Given the description of an element on the screen output the (x, y) to click on. 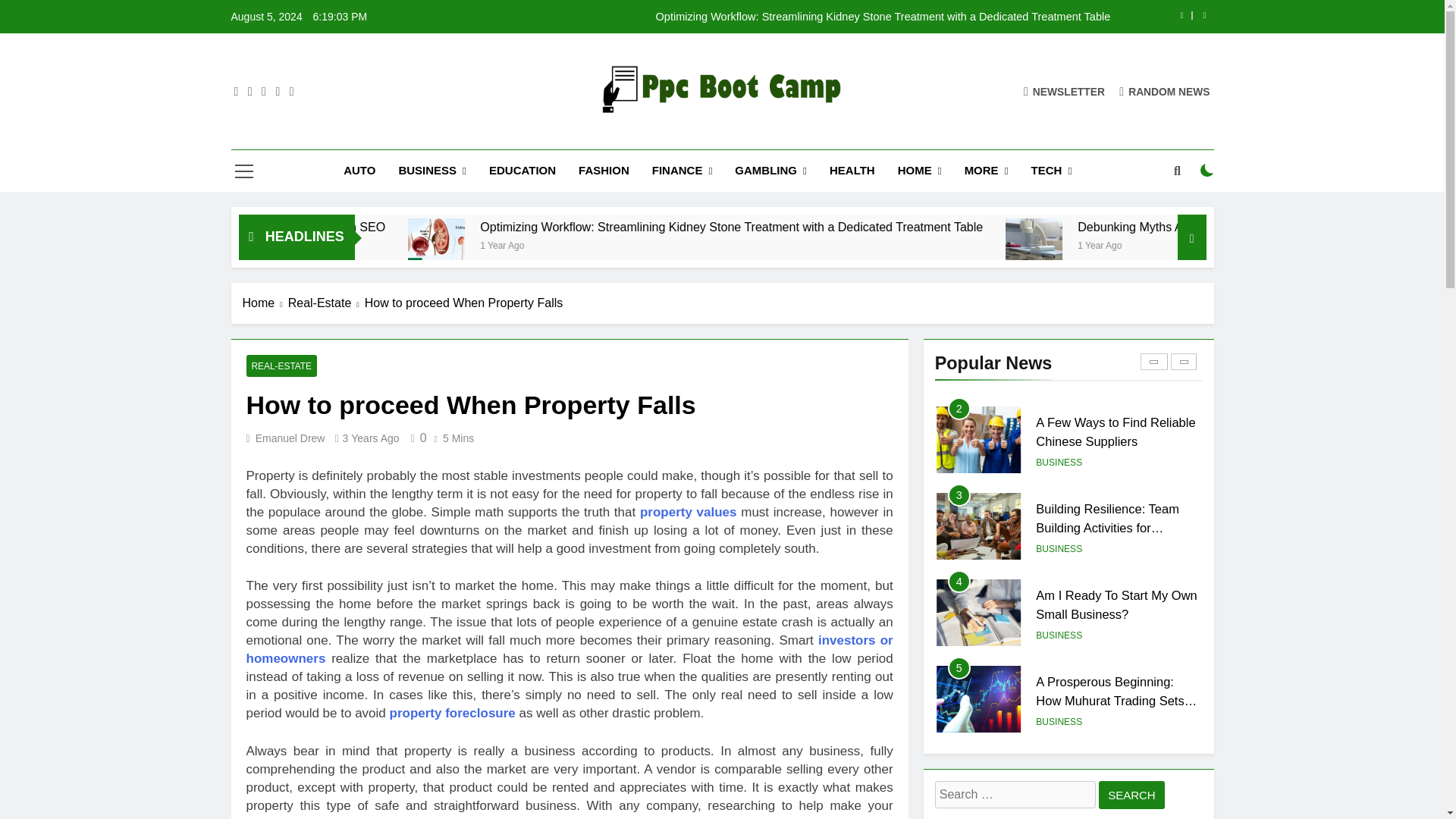
HOME (919, 170)
AUTO (359, 169)
BUSINESS (432, 170)
GAMBLING (770, 170)
NEWSLETTER (1064, 91)
Ppc Boot Camp (595, 135)
Search (1131, 795)
Search (1131, 795)
EDUCATION (522, 169)
FINANCE (681, 170)
RANDOM NEWS (1164, 91)
on (1206, 170)
